Given the description of an element on the screen output the (x, y) to click on. 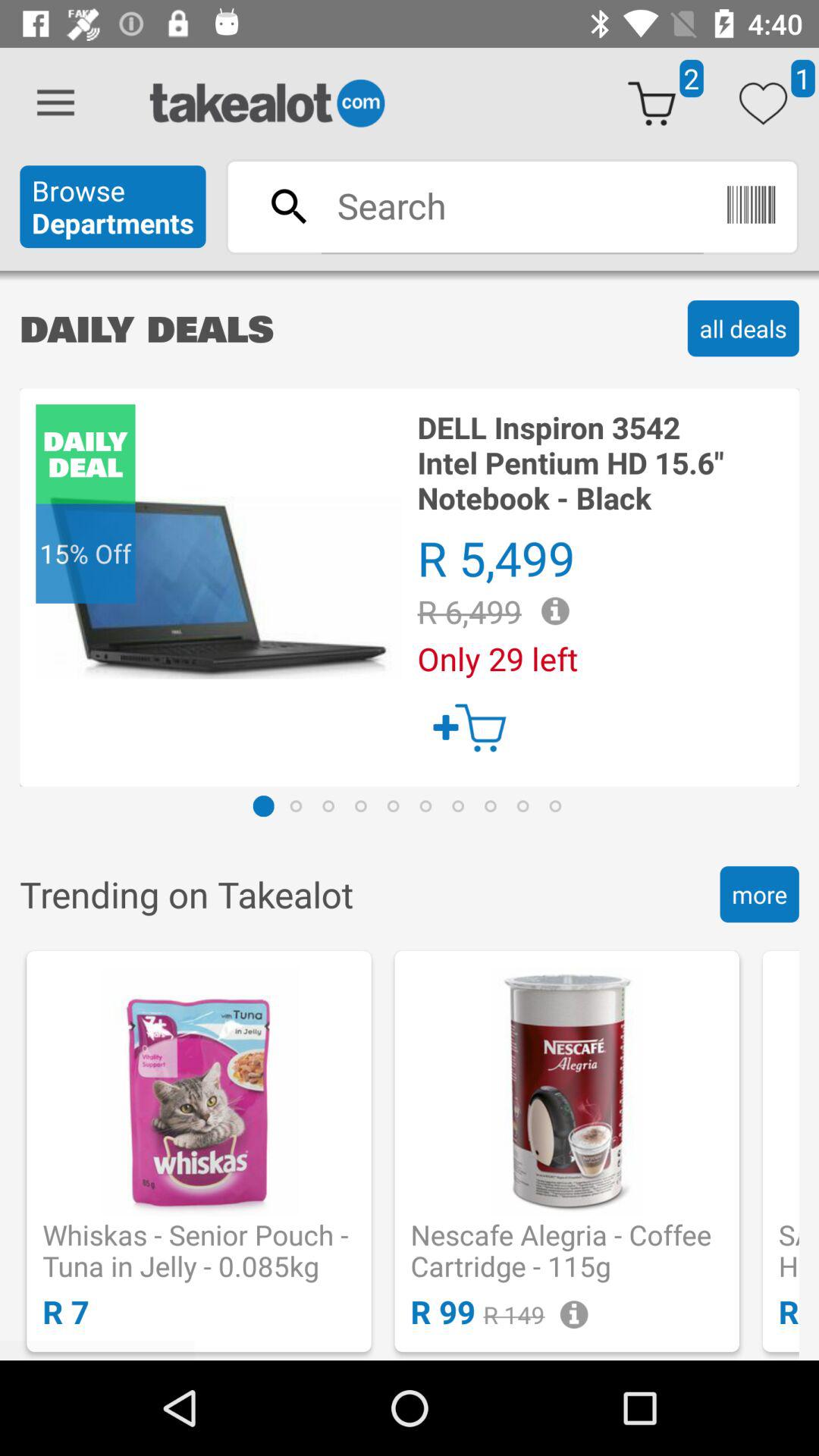
search appliances (512, 205)
